Given the description of an element on the screen output the (x, y) to click on. 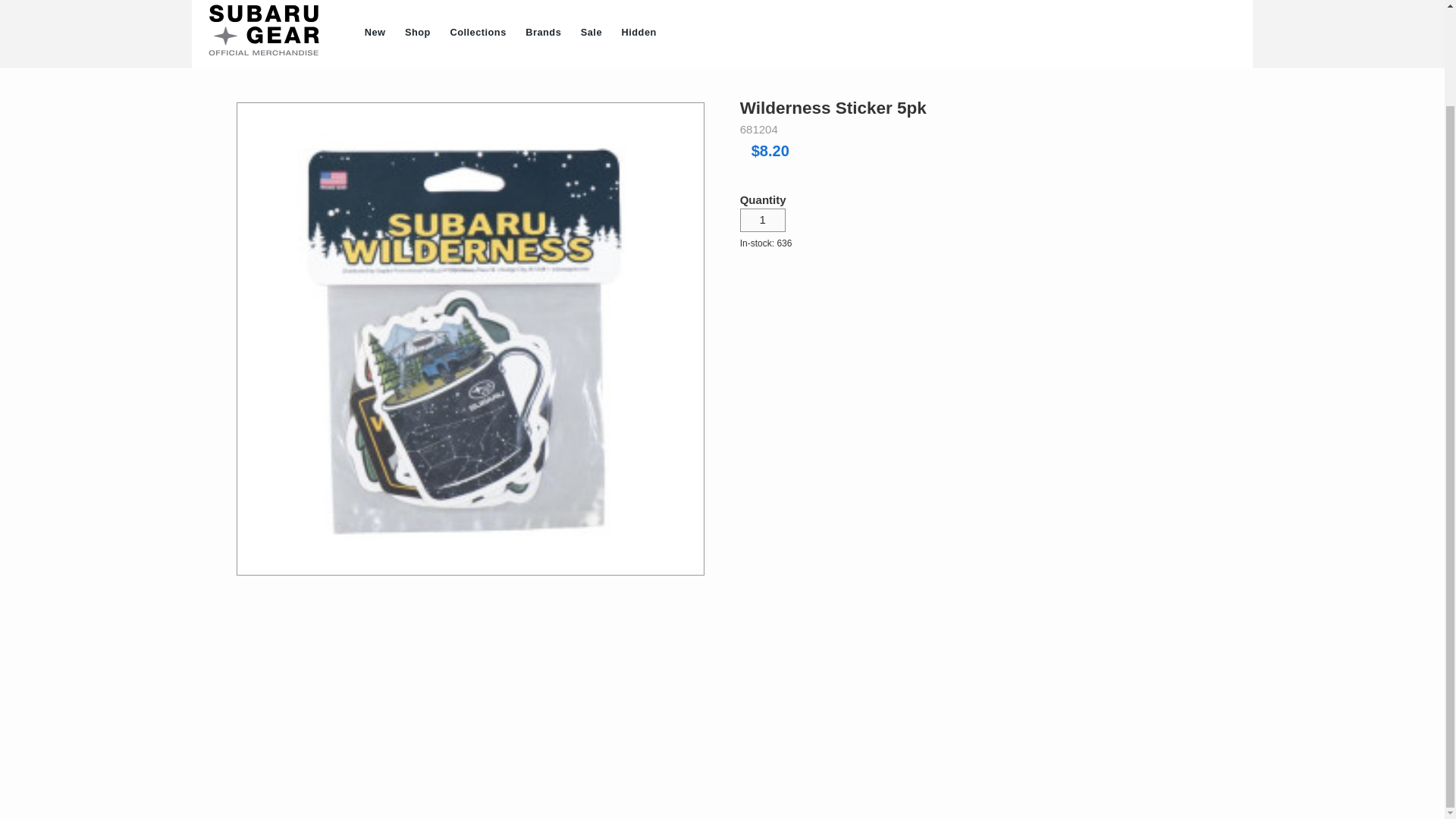
1 (762, 219)
Shop (416, 33)
Collections (478, 33)
New (374, 33)
